Given the description of an element on the screen output the (x, y) to click on. 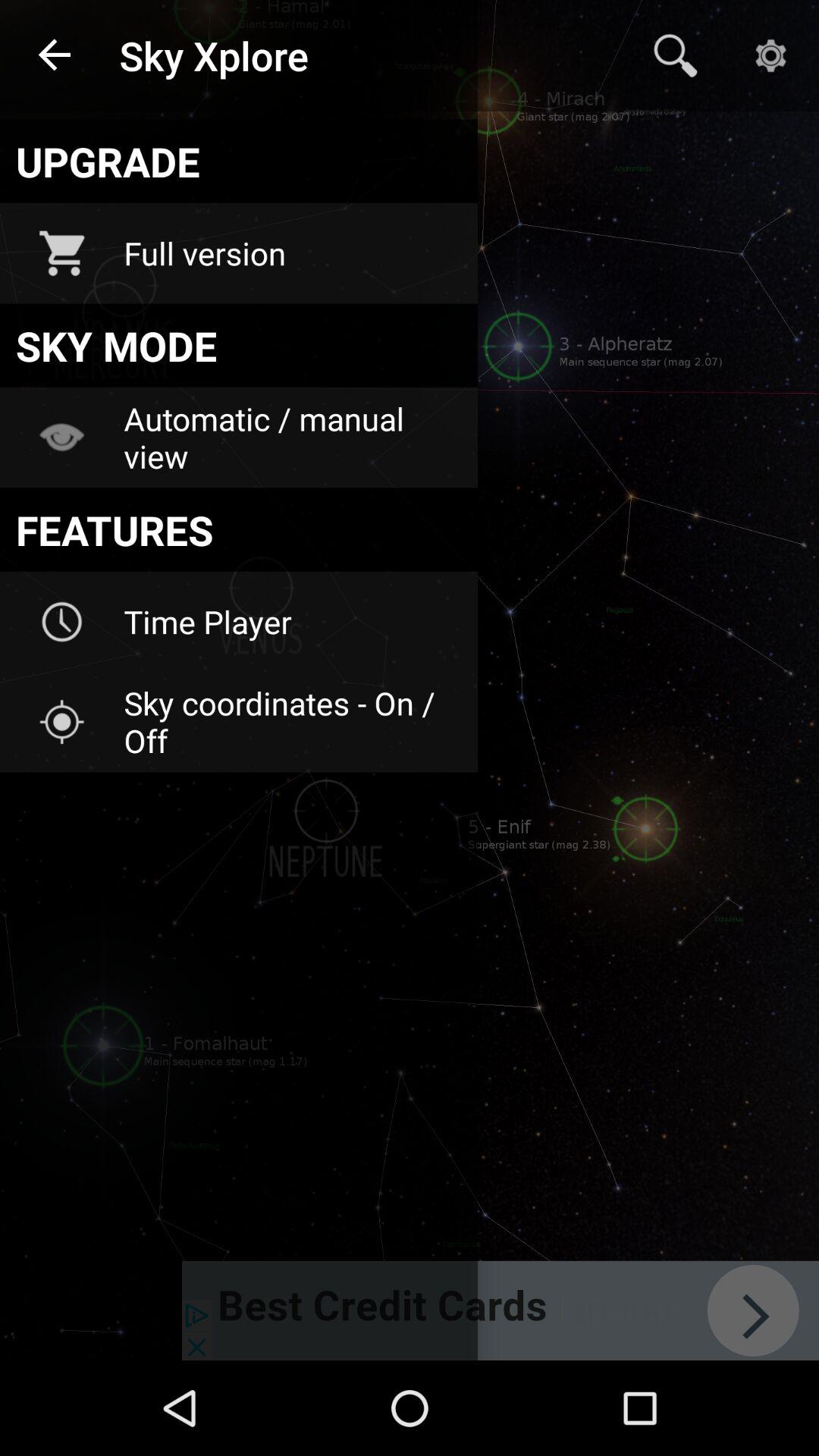
go to best credit cards (500, 1310)
